Given the description of an element on the screen output the (x, y) to click on. 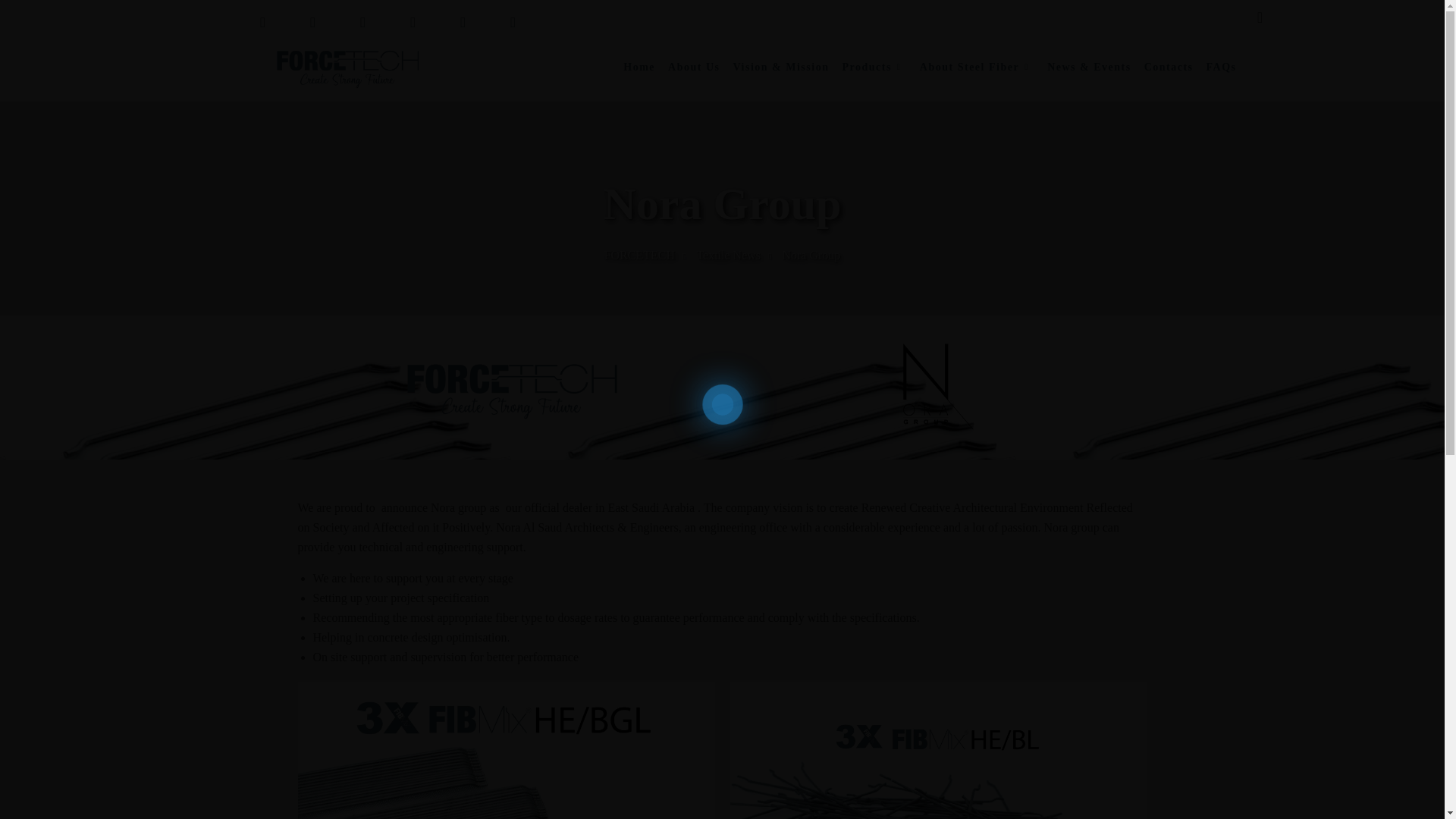
FORCETECH (639, 254)
Go to the Textile News category archives. (727, 254)
Products (866, 66)
Contacts (1168, 66)
Forcetech logo (343, 66)
Textile News (727, 254)
About Us (693, 66)
About Steel Fiber (969, 66)
Go to FORCETECH. (639, 254)
